Given the description of an element on the screen output the (x, y) to click on. 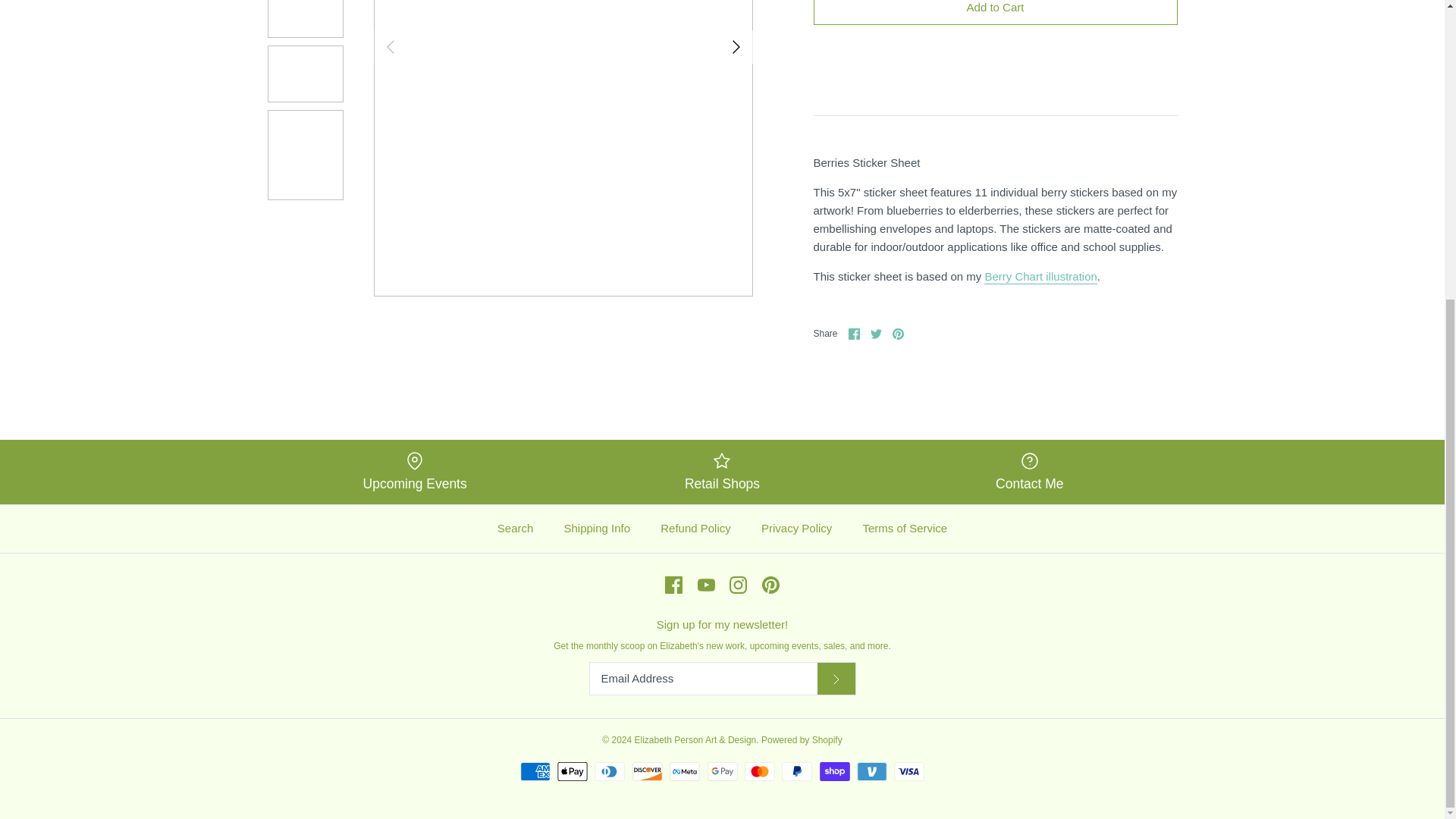
Right (735, 46)
Instagram (737, 584)
Instagram (737, 584)
Facebook (673, 584)
Youtube (705, 584)
Pinterest (898, 333)
American Express (534, 771)
Add to Cart (994, 12)
Facebook (673, 584)
Diners Club (609, 771)
